Given the description of an element on the screen output the (x, y) to click on. 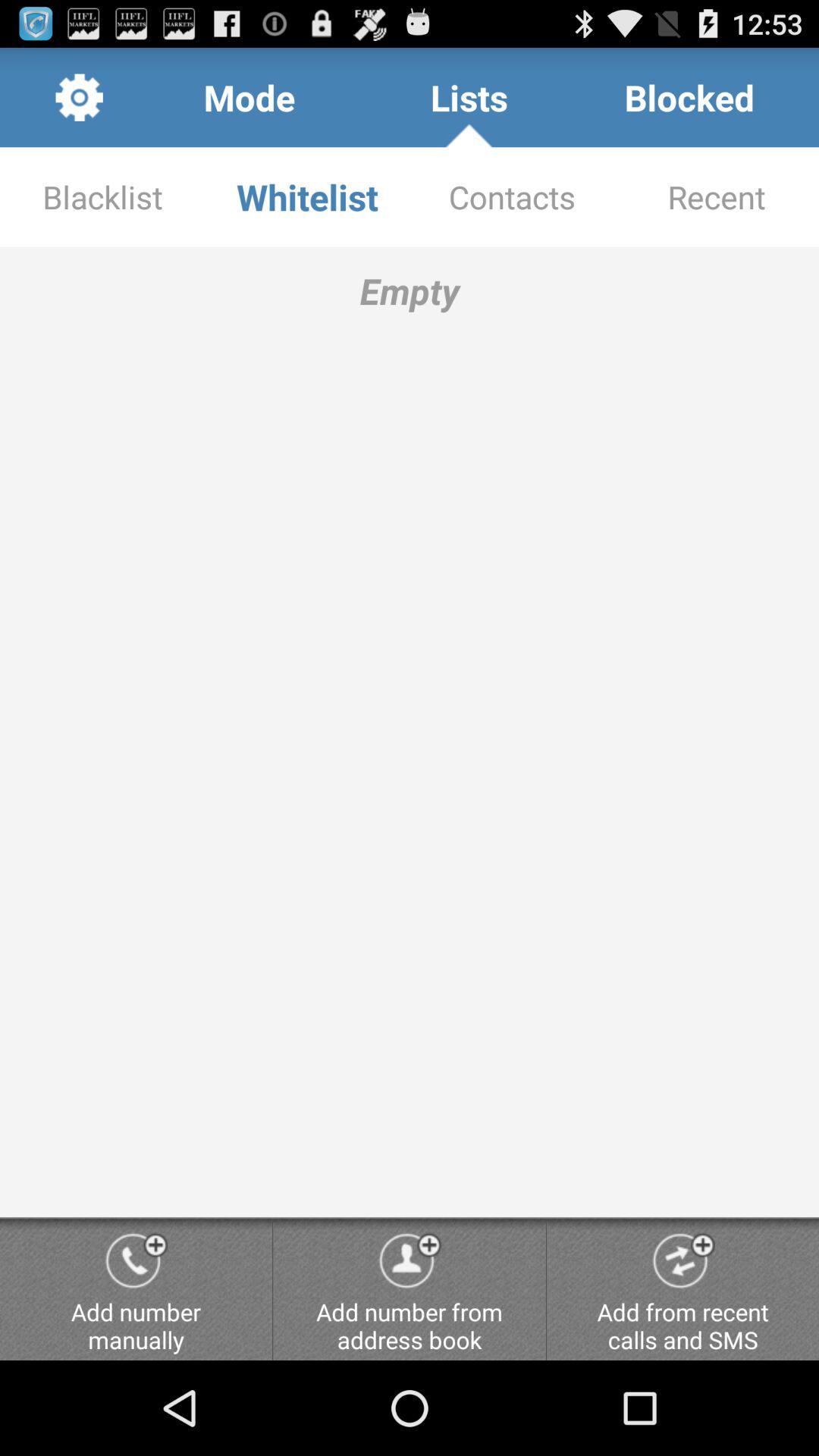
tap blocked app (689, 97)
